Given the description of an element on the screen output the (x, y) to click on. 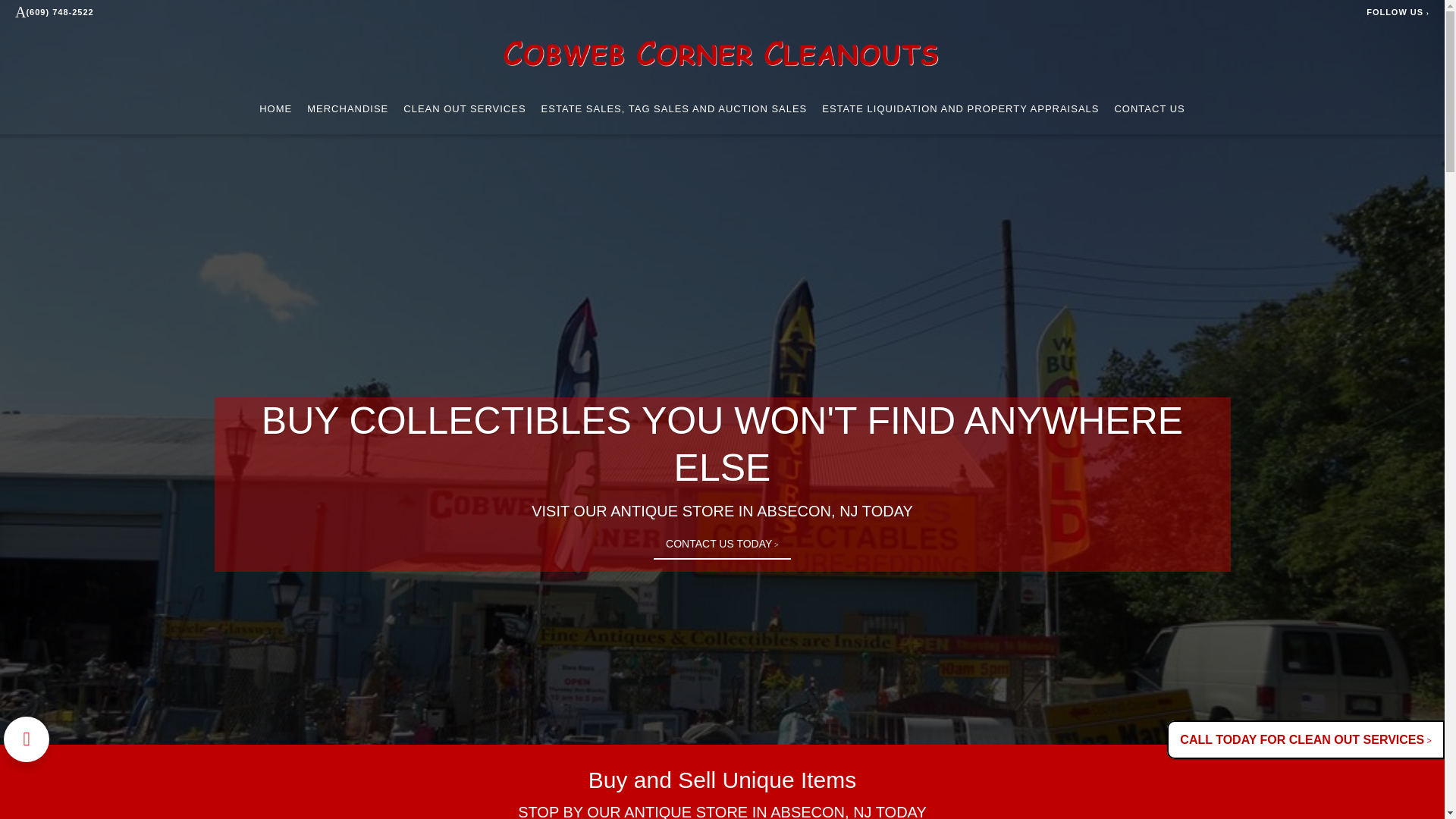
ESTATE SALES, TAG SALES AND AUCTION SALES (674, 108)
CONTACT US (1149, 108)
HOME (275, 108)
CLEAN OUT SERVICES (464, 108)
ESTATE LIQUIDATION AND PROPERTY APPRAISALS (960, 108)
MERCHANDISE (347, 108)
CONTACT US TODAY (721, 544)
BUY COLLECTIBLES YOU WON'T FIND ANYWHERE ELSE (722, 444)
